Given the description of an element on the screen output the (x, y) to click on. 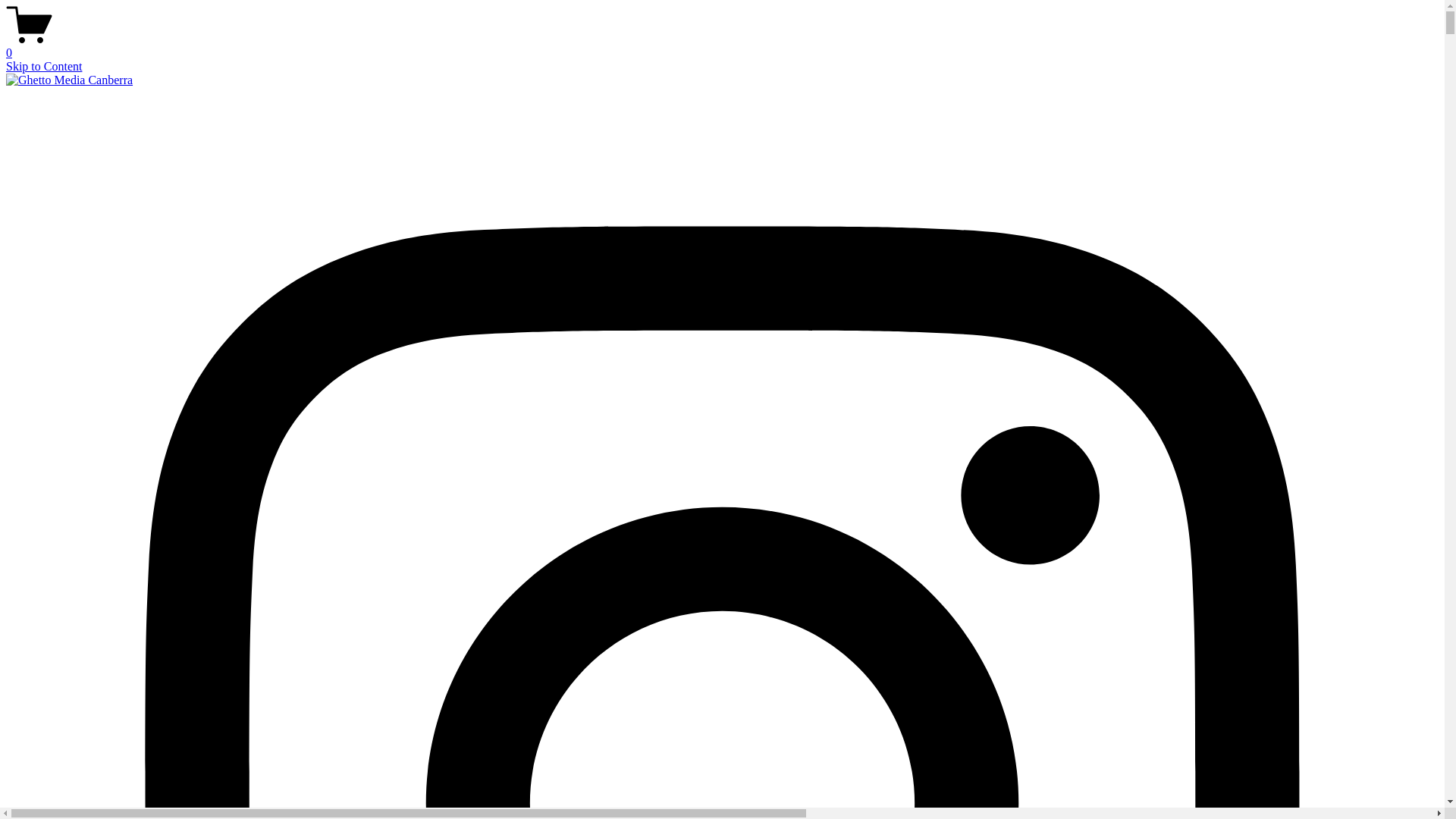
Skip to Content Element type: text (43, 65)
0 Element type: text (722, 45)
